Given the description of an element on the screen output the (x, y) to click on. 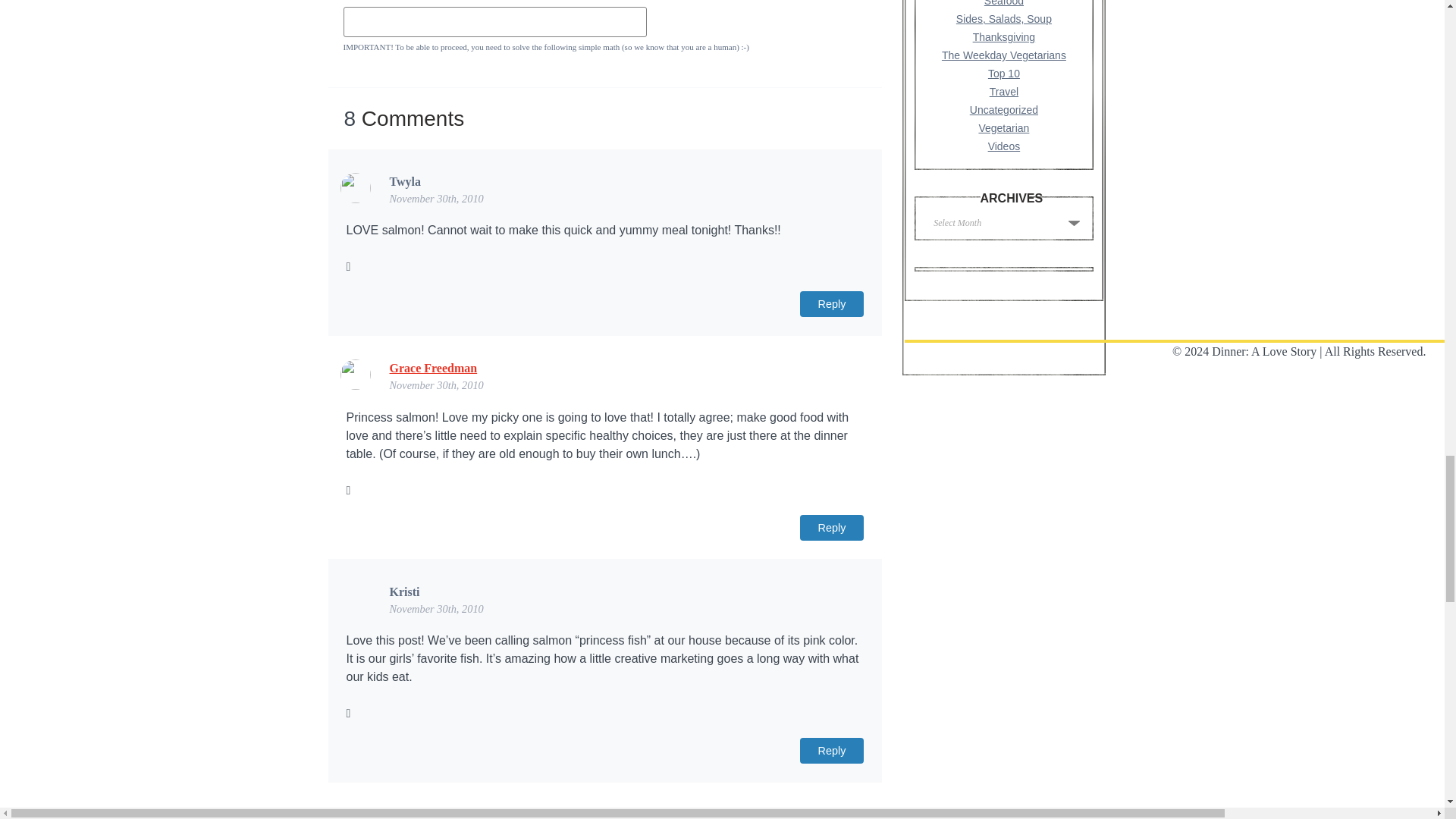
November 30th, 2010 (436, 608)
November 30th, 2010 (436, 198)
Reply (831, 527)
Grace Freedman (433, 367)
Reply (831, 303)
November 30th, 2010 (436, 385)
Reply (831, 750)
